Given the description of an element on the screen output the (x, y) to click on. 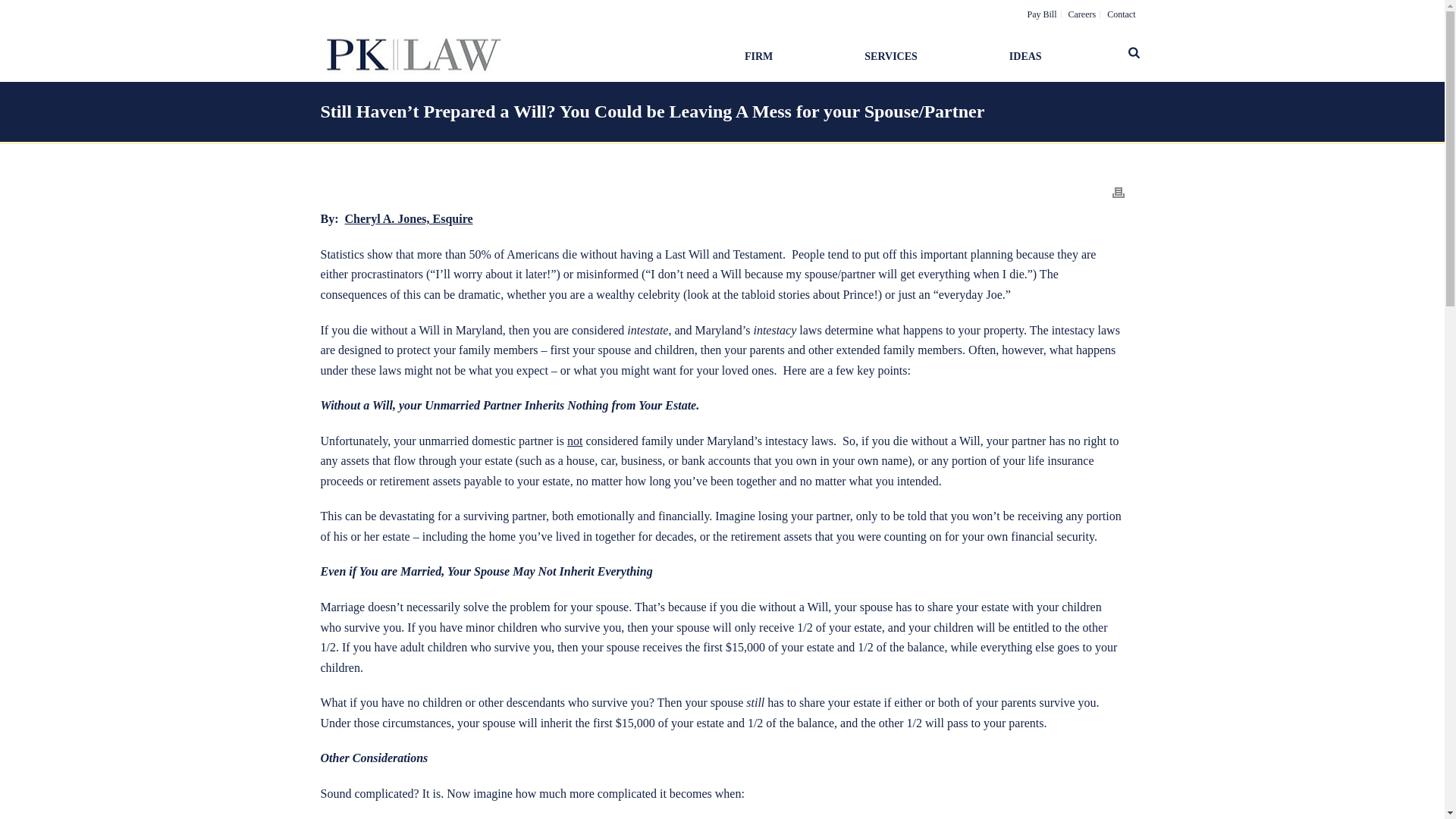
SERVICES (920, 54)
IDEAS (1056, 54)
Pay Bill (1042, 14)
FIRM (788, 54)
Contact (1120, 14)
Cheryl A. Jones, Esquire (407, 218)
SERVICES (920, 54)
FIRM (788, 54)
Careers (1082, 14)
IDEAS (1056, 54)
